Given the description of an element on the screen output the (x, y) to click on. 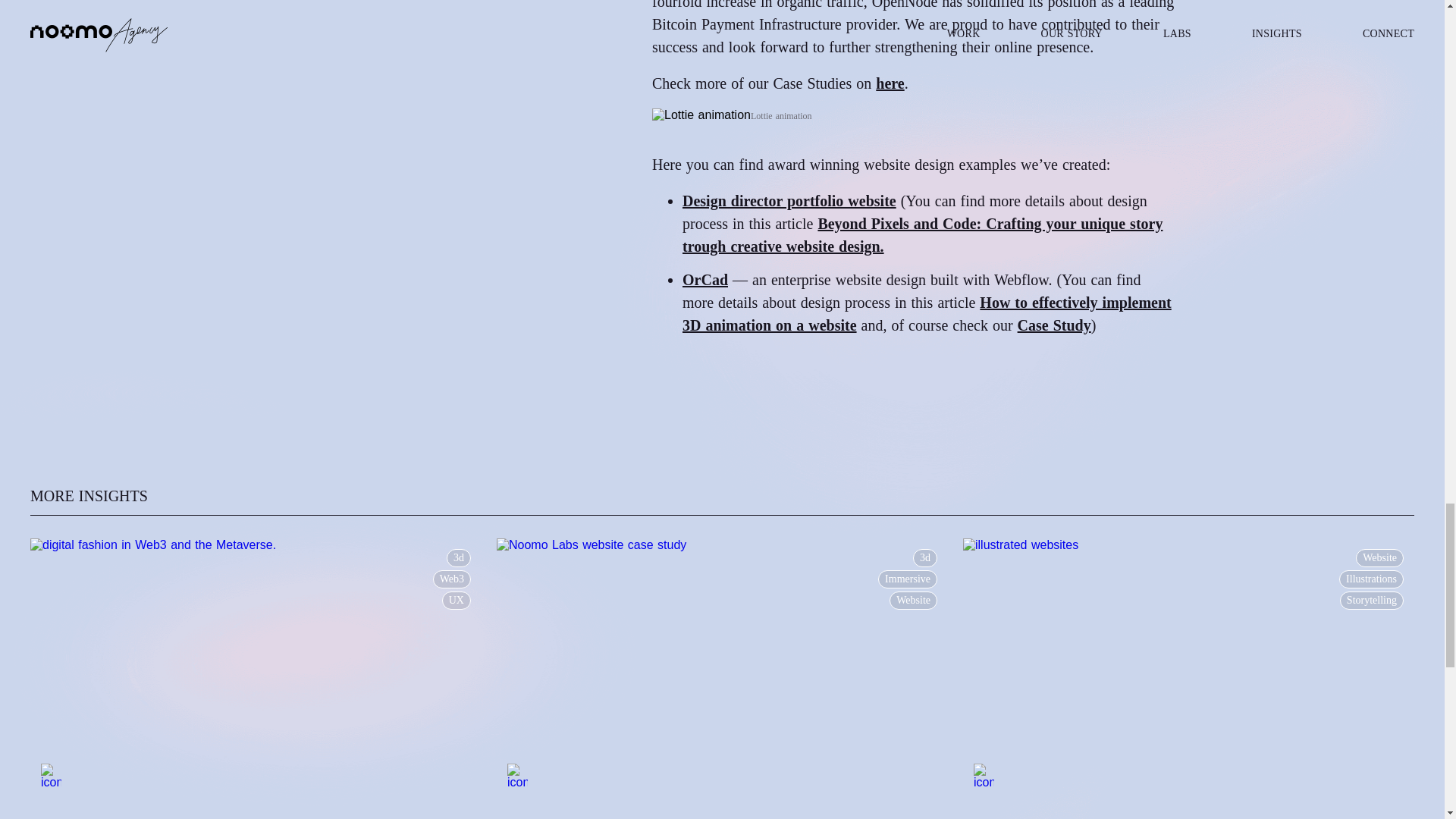
Design director portfolio website (789, 200)
How to effectively implement 3D animation on a website (927, 313)
Case Study (1053, 324)
here (890, 83)
OrCad (705, 279)
